Given the description of an element on the screen output the (x, y) to click on. 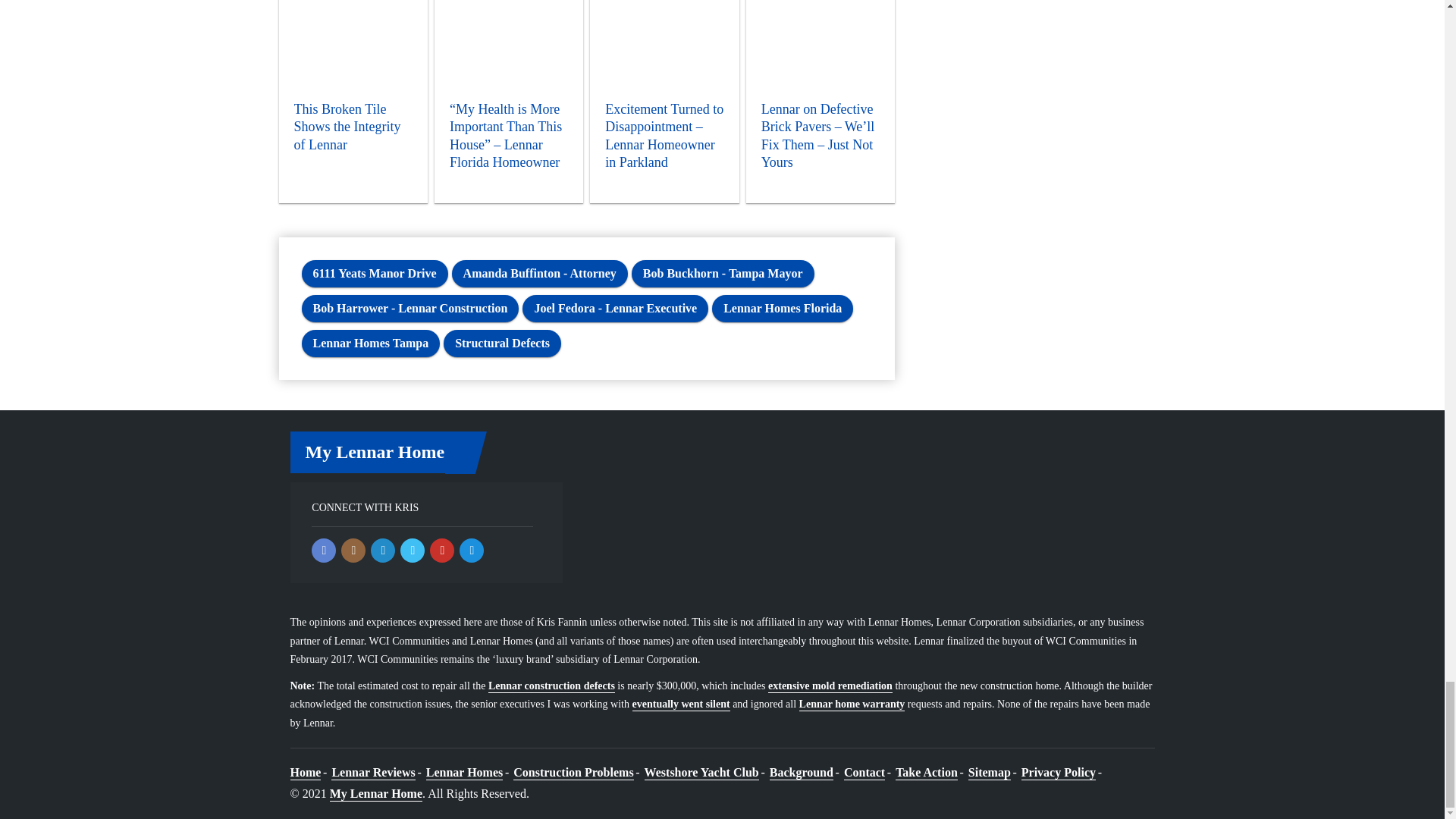
Facebook (323, 550)
 Documenting my experiences with Lennar Homes builder. (376, 794)
YouTube (441, 550)
Twitter (412, 550)
Email (471, 550)
LinkedIn (382, 550)
Instagram (352, 550)
